Given the description of an element on the screen output the (x, y) to click on. 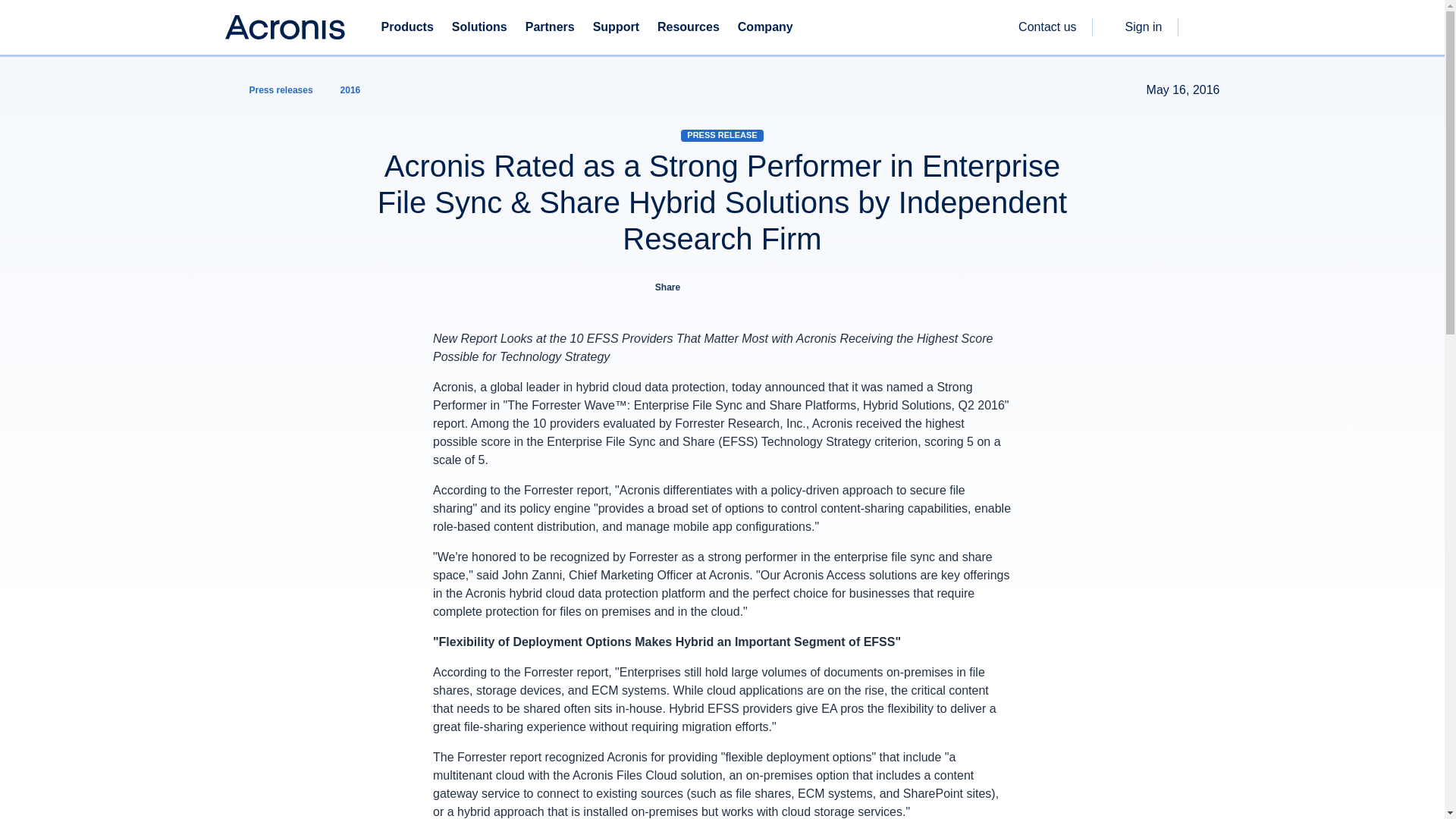
Acronis (283, 27)
